Given the description of an element on the screen output the (x, y) to click on. 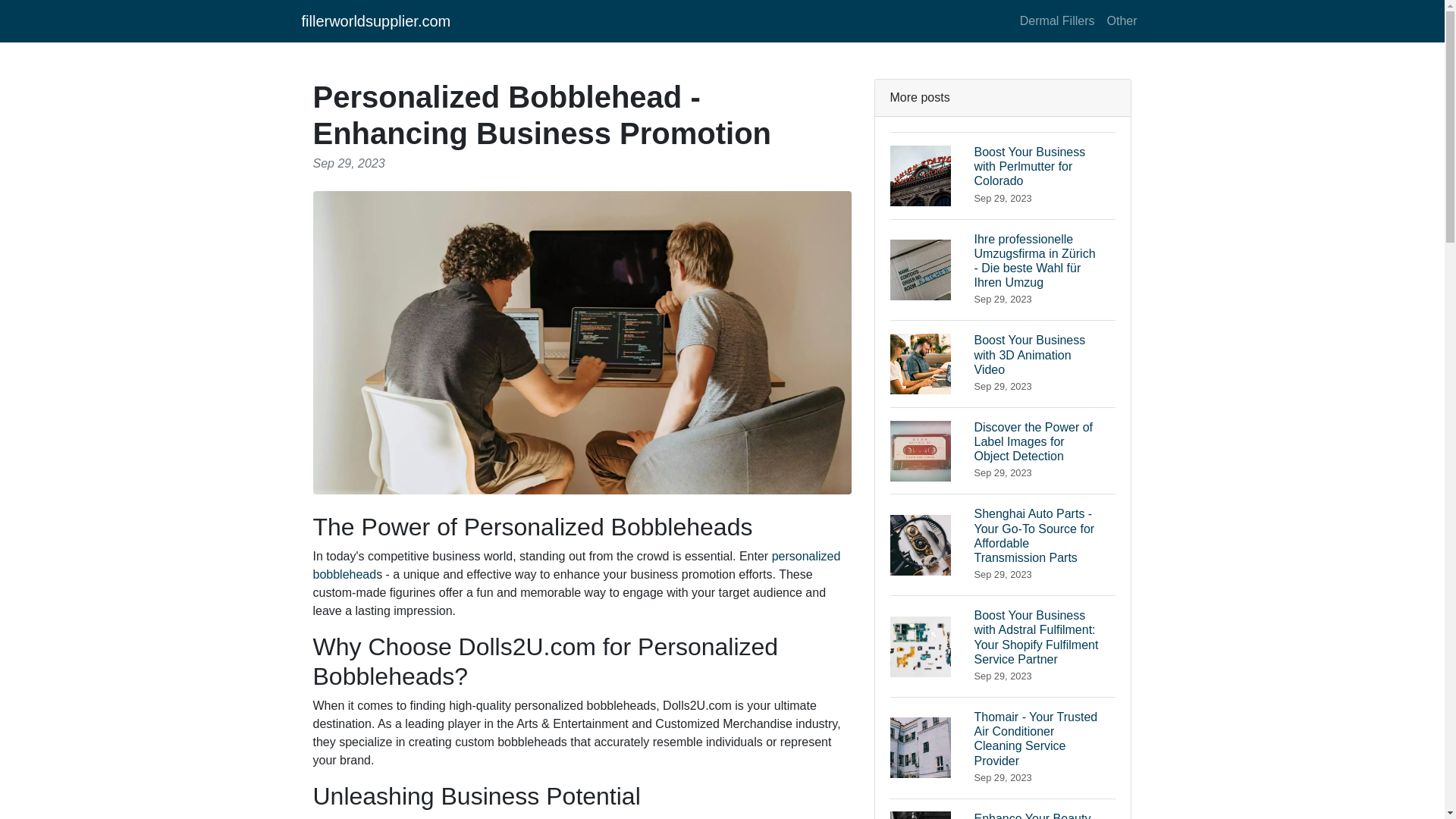
fillerworldsupplier.com (1002, 363)
Dermal Fillers (376, 20)
Other (1056, 20)
personalized bobblehead (1121, 20)
